Given the description of an element on the screen output the (x, y) to click on. 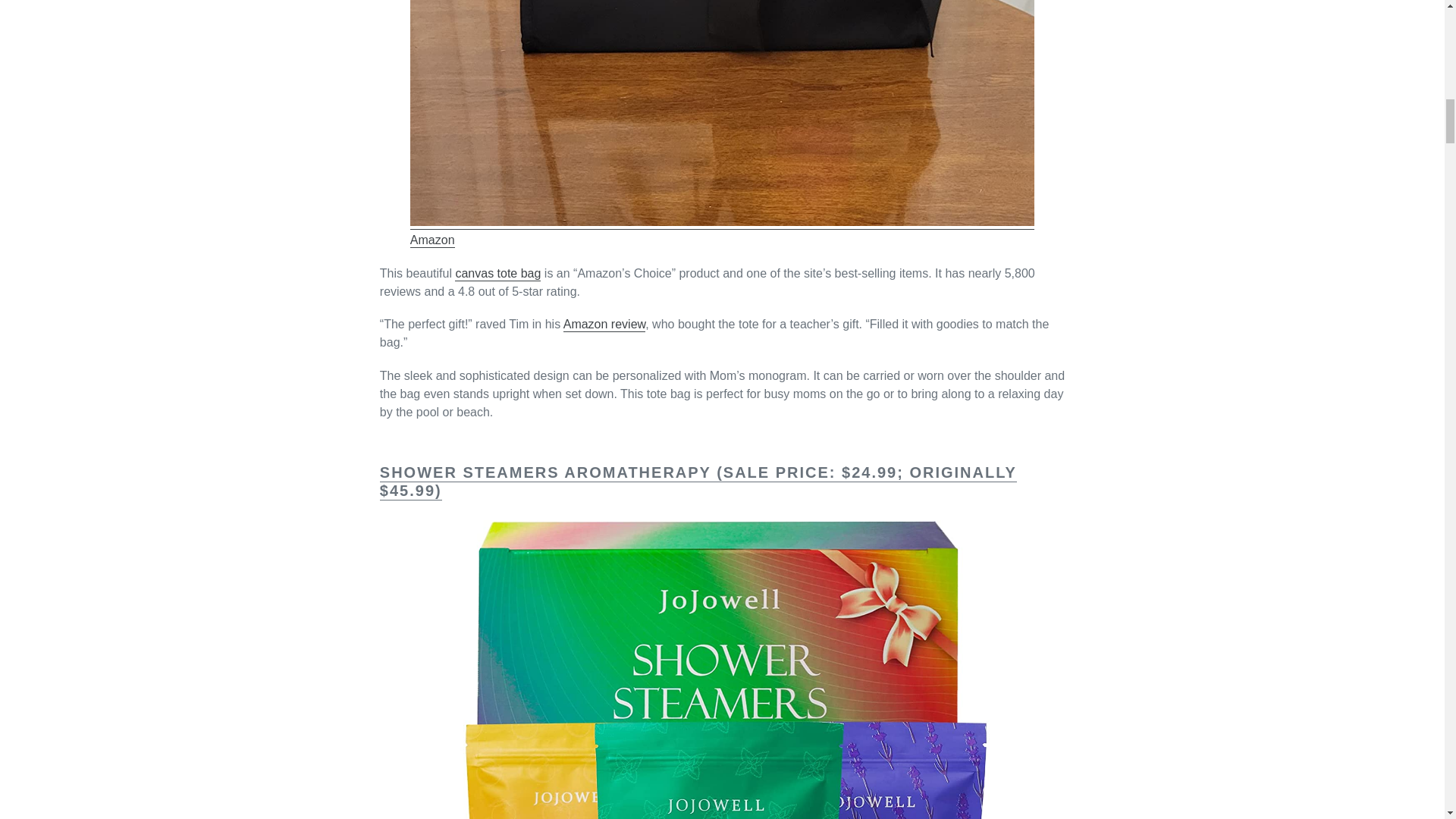
canvas tote bag (497, 273)
Amazon review (604, 324)
Amazon (432, 240)
